Given the description of an element on the screen output the (x, y) to click on. 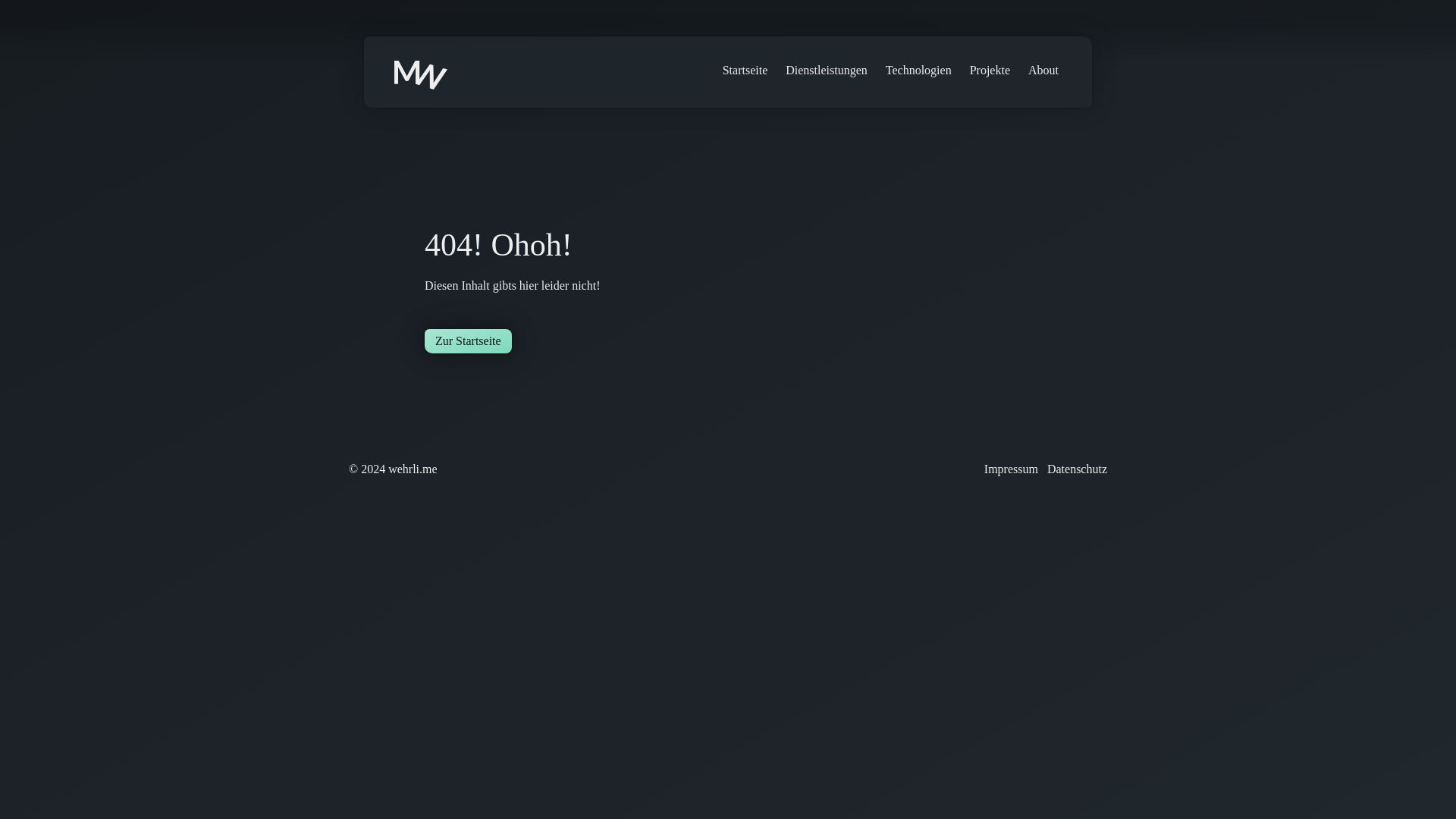
Datenschutz (1076, 468)
Impressum (1011, 468)
Dienstleistungen (826, 71)
About (1042, 71)
Startseite (745, 71)
Projekte (989, 71)
Zur Startseite (468, 340)
Technologien (918, 71)
